Given the description of an element on the screen output the (x, y) to click on. 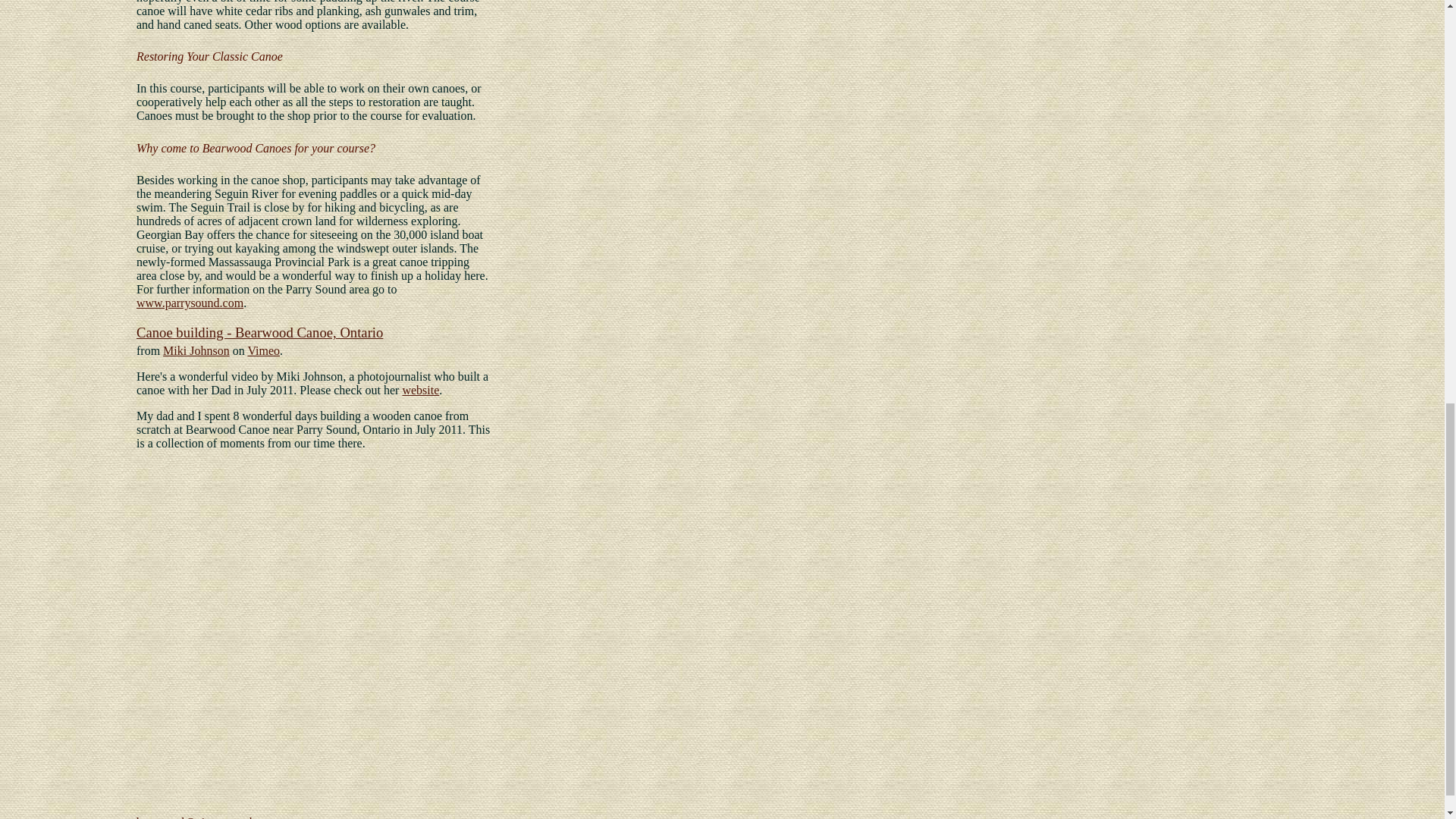
Miki Johnson (196, 350)
Canoe building - Bearwood Canoe, Ontario (259, 332)
www.parrysound.com (189, 302)
website (420, 390)
home (262, 817)
Vimeo (263, 350)
